Given the description of an element on the screen output the (x, y) to click on. 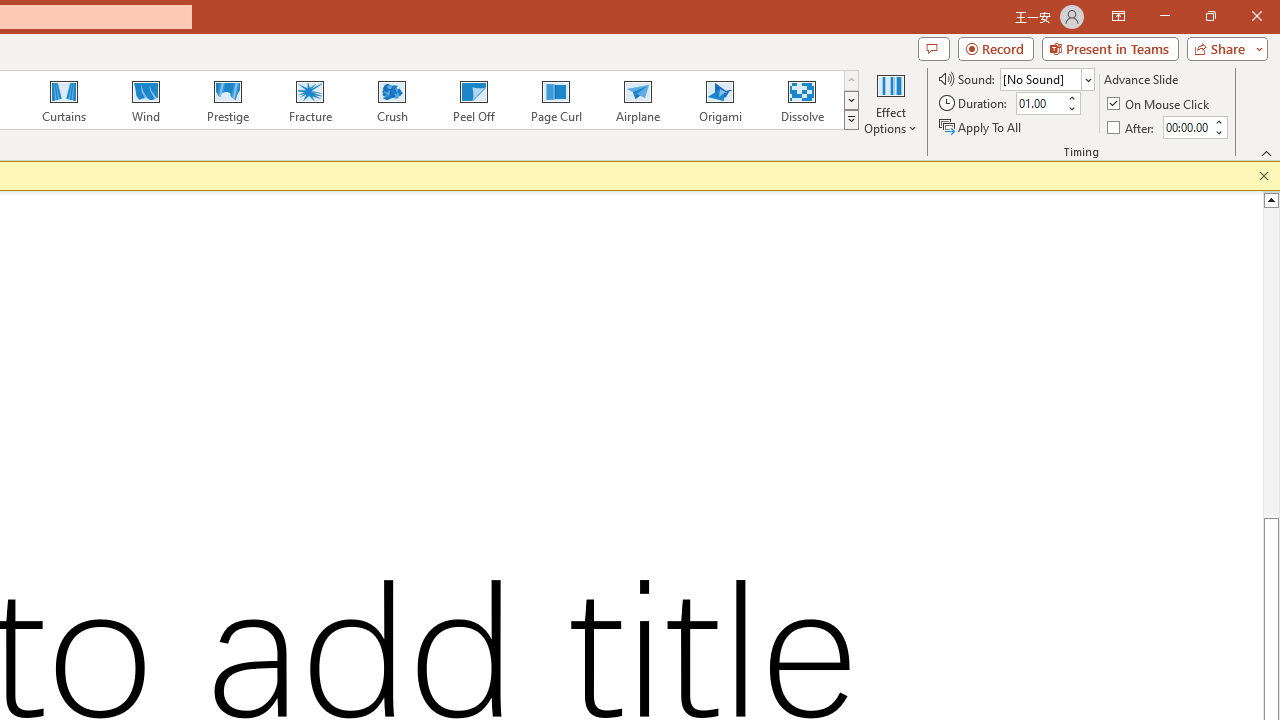
Wind (145, 100)
Effect Options (890, 102)
After (1131, 126)
Airplane (637, 100)
After (1186, 127)
Duration (1039, 103)
Fracture (309, 100)
Dissolve (802, 100)
